Given the description of an element on the screen output the (x, y) to click on. 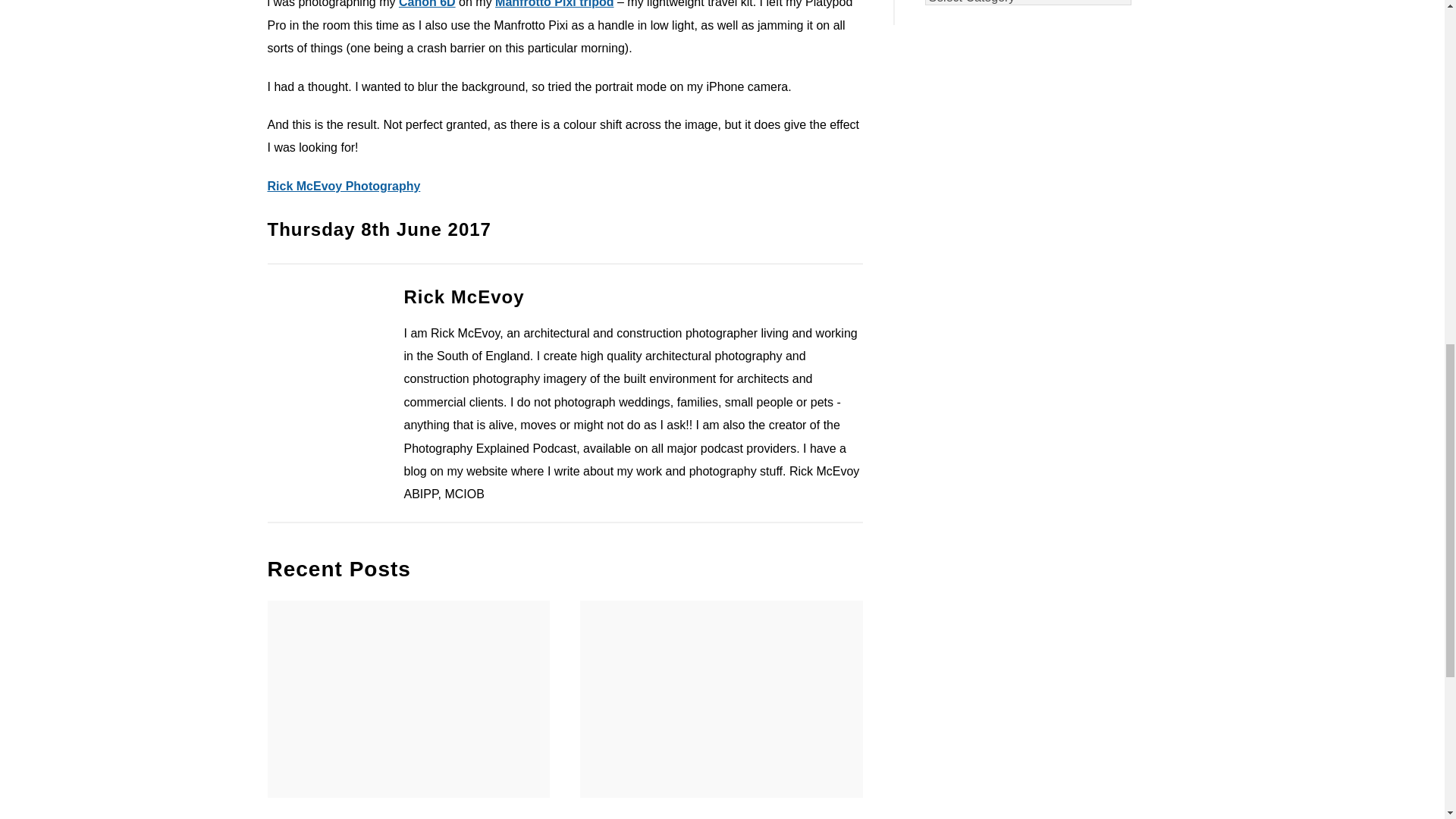
Rick McEvoy (463, 296)
Rick McEvoy Photography (343, 185)
Manfrotto Pixi tripod (553, 4)
Canon 6D (426, 4)
link to Check out my successful portfolio submission (408, 698)
